Given the description of an element on the screen output the (x, y) to click on. 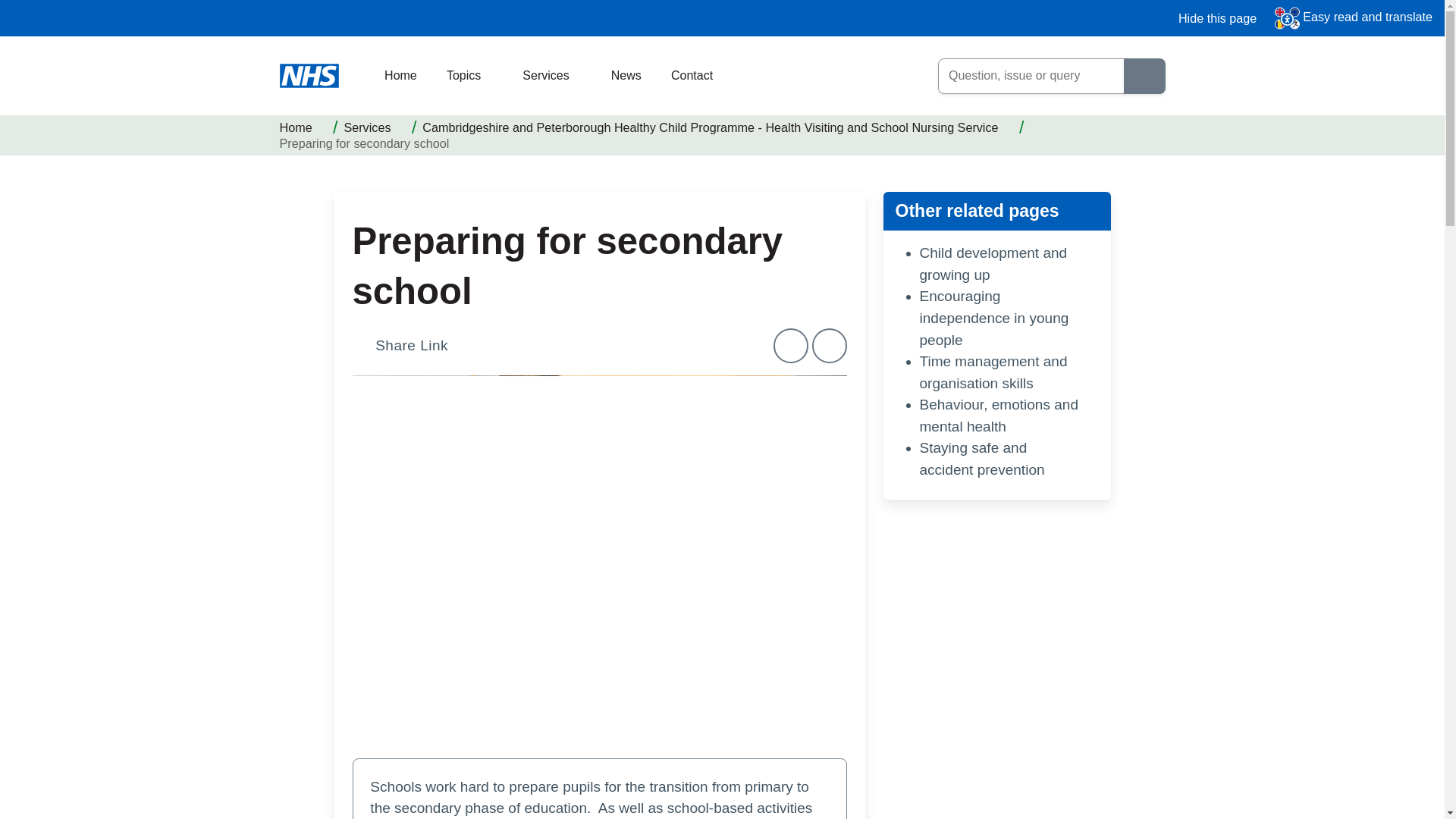
Print this page (790, 345)
Visit homepage (317, 75)
Hide this page (1208, 18)
Download this page as a PDF (829, 345)
Easy read and translate (1353, 18)
Services (554, 75)
Activate ReciteMe accessibility assistance (1353, 18)
Search (1145, 76)
